Given the description of an element on the screen output the (x, y) to click on. 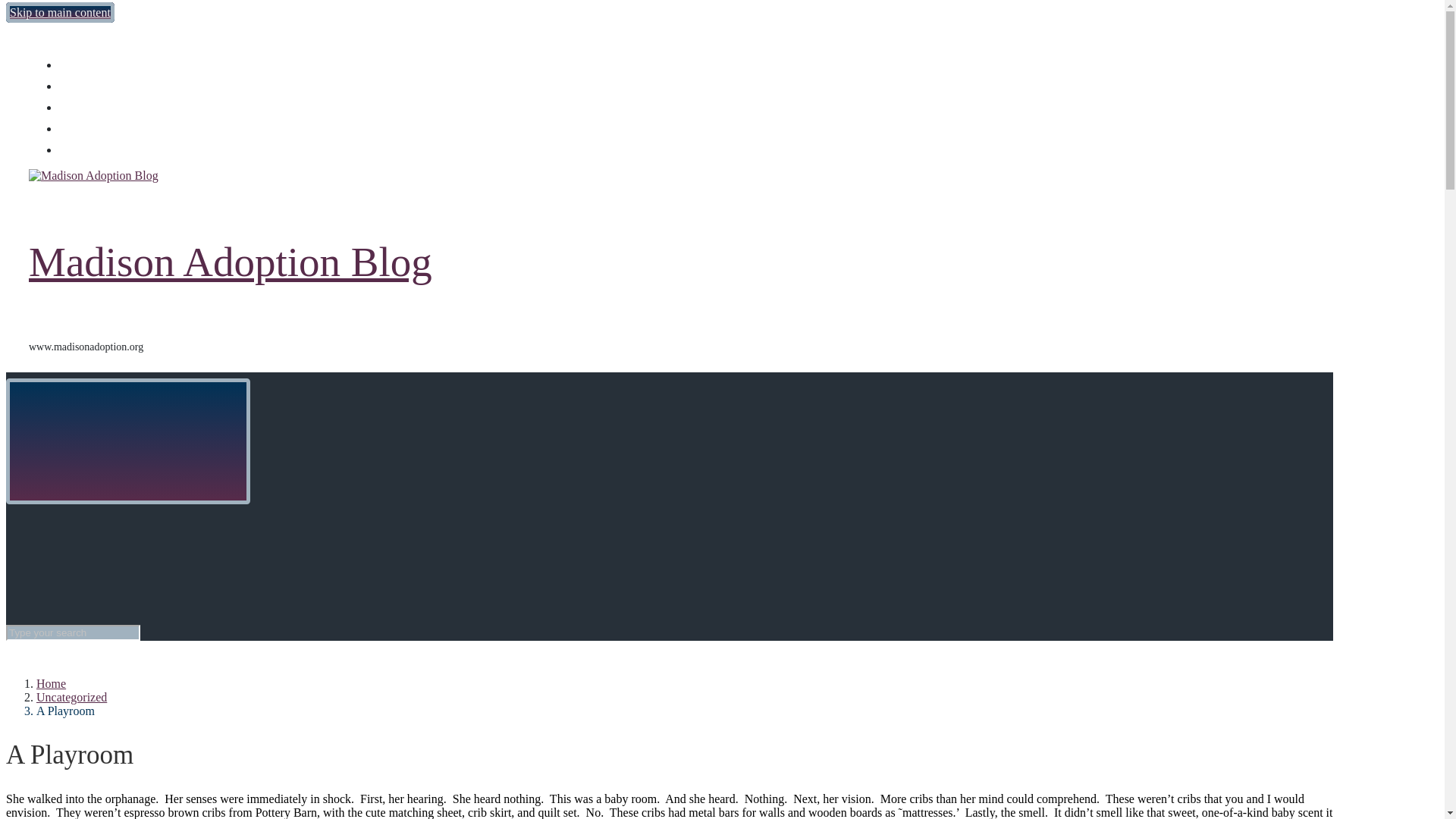
Skip to main content (60, 12)
YouTube (68, 128)
Uncategorized (71, 697)
Instagram (68, 106)
Home (50, 683)
Uncategorized (71, 697)
Newsletter (68, 64)
Madison Adoption Blog (230, 262)
Facebook (68, 85)
Pinterest (68, 149)
